Given the description of an element on the screen output the (x, y) to click on. 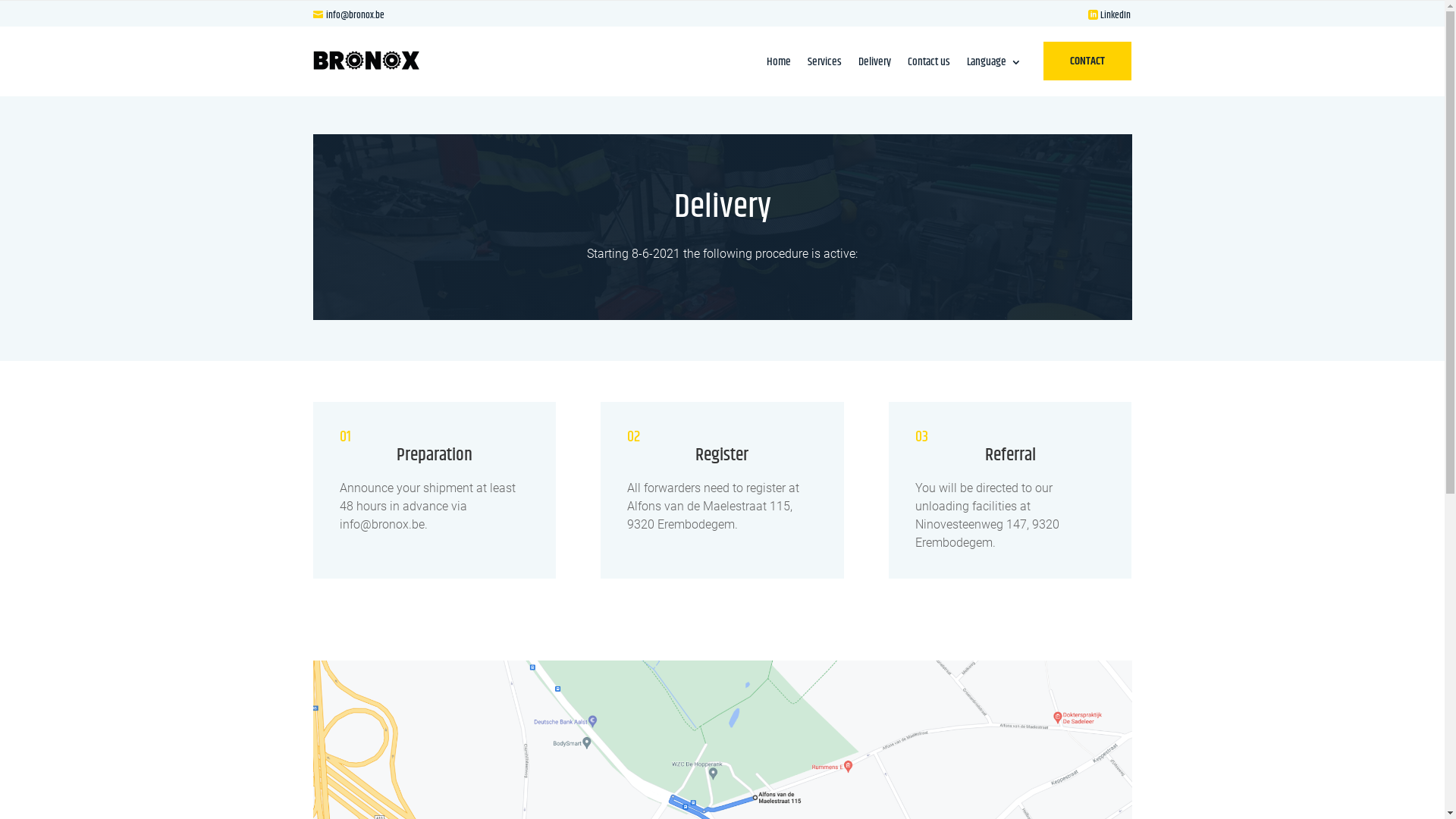
LinkedIn Element type: text (1115, 13)
Language Element type: text (993, 64)
CONTACT Element type: text (1087, 60)
Home Element type: text (778, 64)
Services Element type: text (824, 64)
info@bronox.be Element type: text (348, 13)
Delivery Element type: text (874, 64)
bronox conveyors Element type: hover (365, 59)
info@bronox.be. Element type: text (383, 524)
Contact us Element type: text (928, 64)
